Given the description of an element on the screen output the (x, y) to click on. 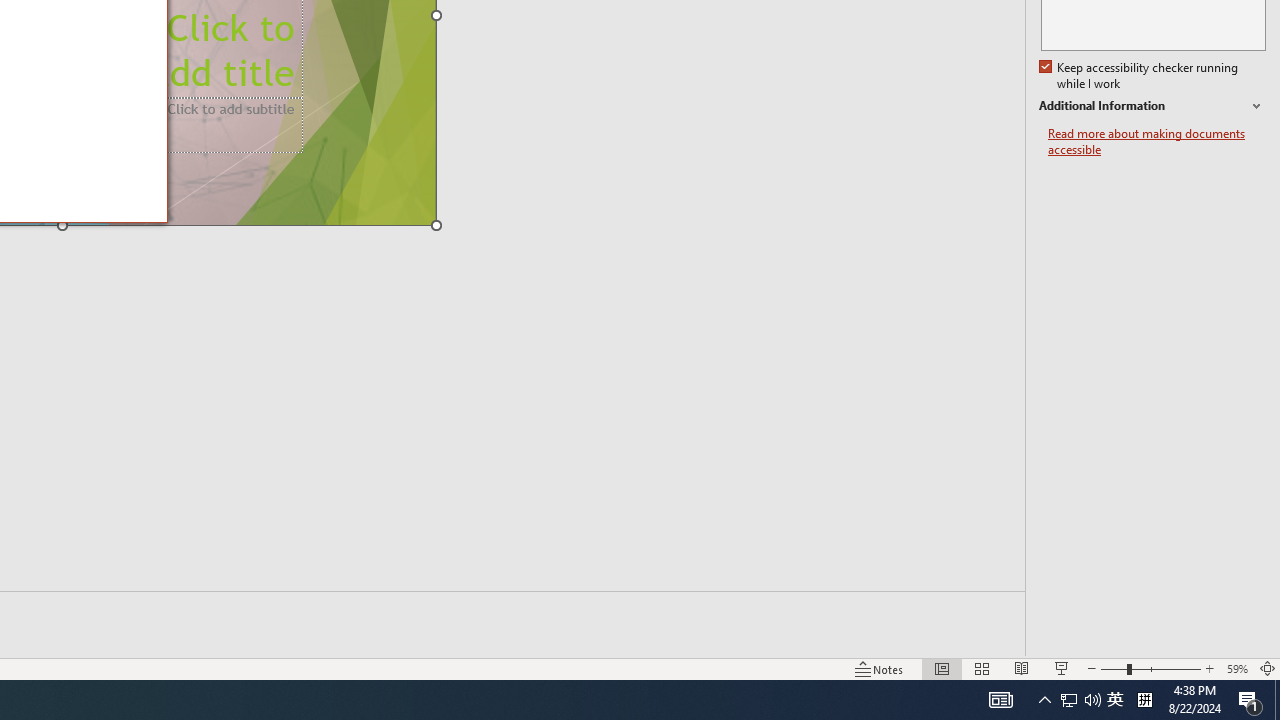
Read more about making documents accessible (1115, 699)
Action Center, 1 new notification (1156, 142)
User Promoted Notification Area (1250, 699)
